Given the description of an element on the screen output the (x, y) to click on. 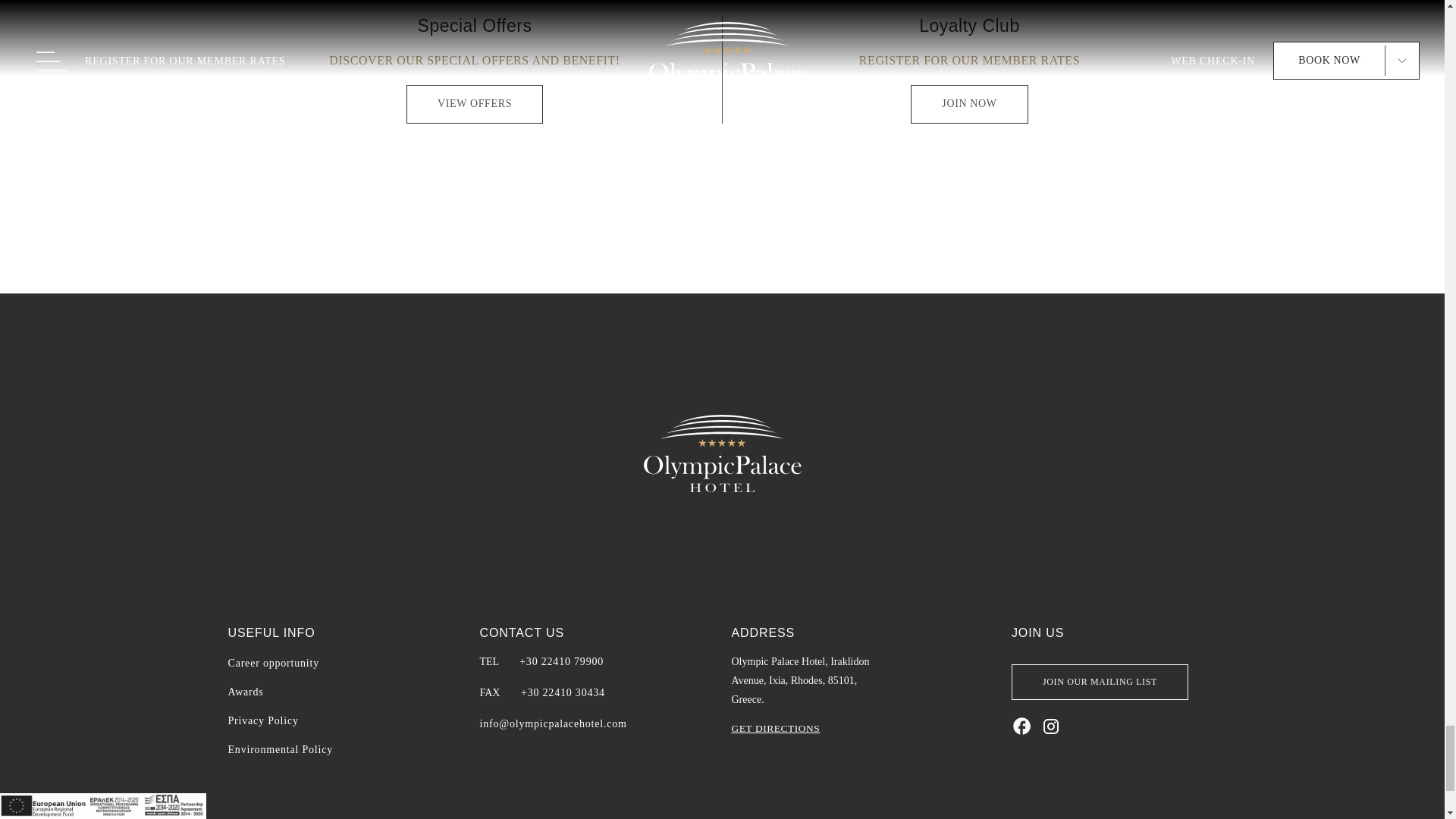
Environmental Policy (279, 749)
Instagram (1050, 724)
GET DIRECTIONS (774, 727)
Career opportunity (272, 663)
Career opportunity (272, 663)
Privacy Policy (262, 720)
Awards (245, 692)
JOIN OUR MAILING LIST (1099, 682)
JOIN NOW (969, 103)
Fax (563, 692)
Olympic Palace Hotel (721, 451)
Telephone (561, 661)
Awards (245, 692)
VIEW OFFERS (474, 103)
Email (552, 724)
